Given the description of an element on the screen output the (x, y) to click on. 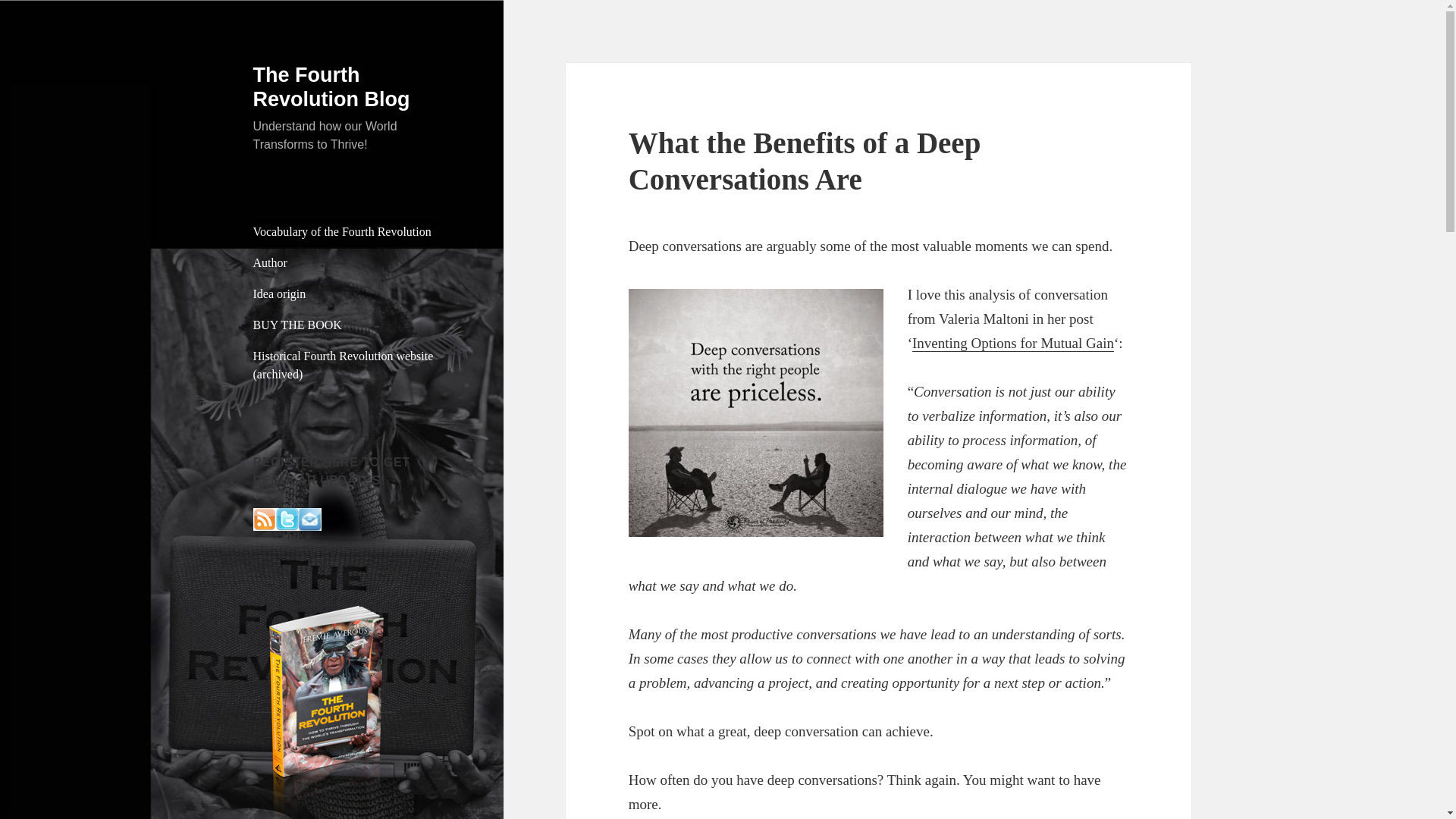
Idea origin (347, 294)
Vocabulary of the Fourth Revolution (347, 232)
The Fourth Revolution Blog (331, 86)
Author (347, 263)
BUY THE BOOK (347, 325)
The Fourth Revolution blog on Twitter (287, 517)
receive regular Fourth Revolution updates on your email (309, 517)
